Given the description of an element on the screen output the (x, y) to click on. 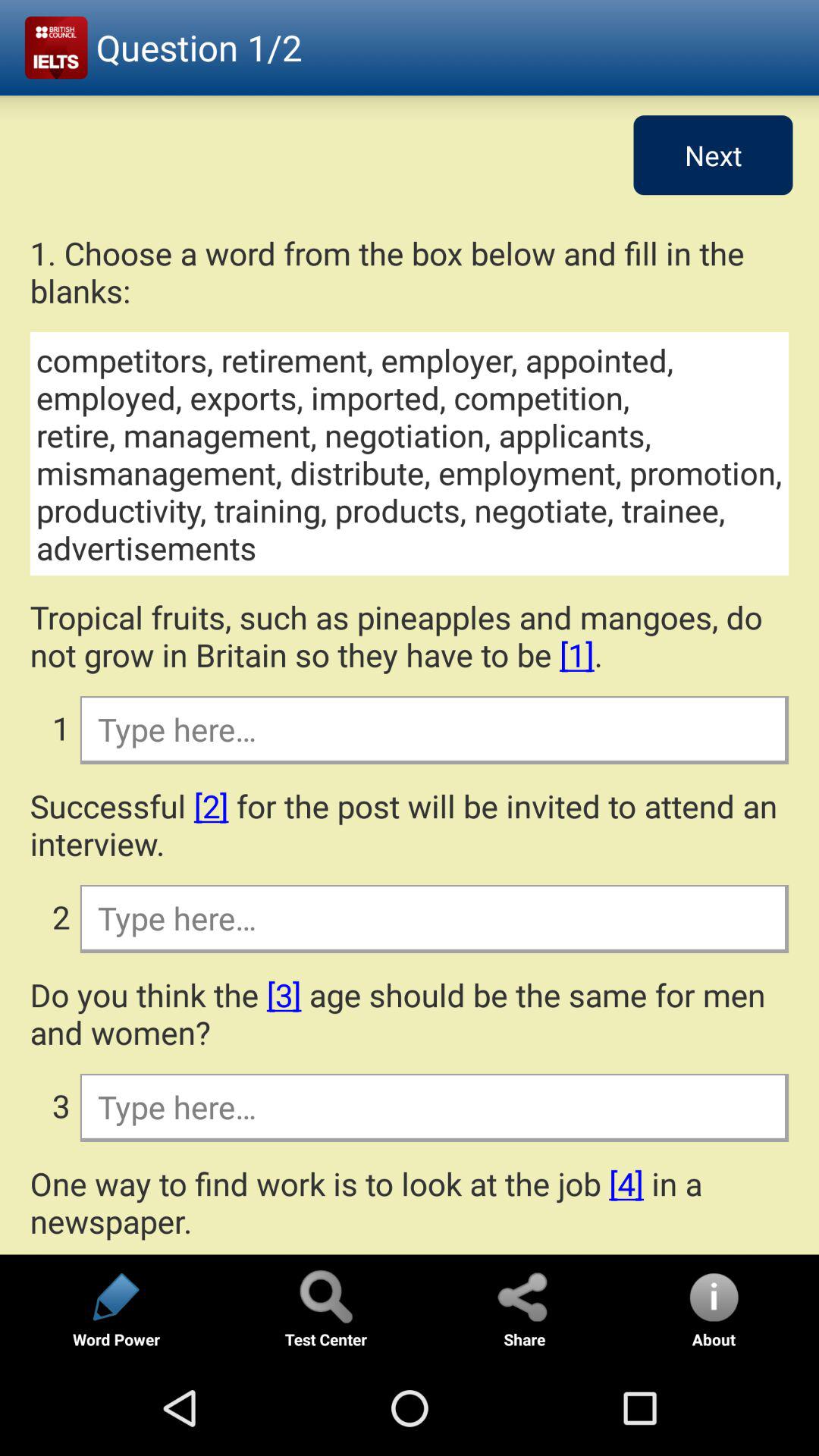
flip until do you think (409, 1013)
